Given the description of an element on the screen output the (x, y) to click on. 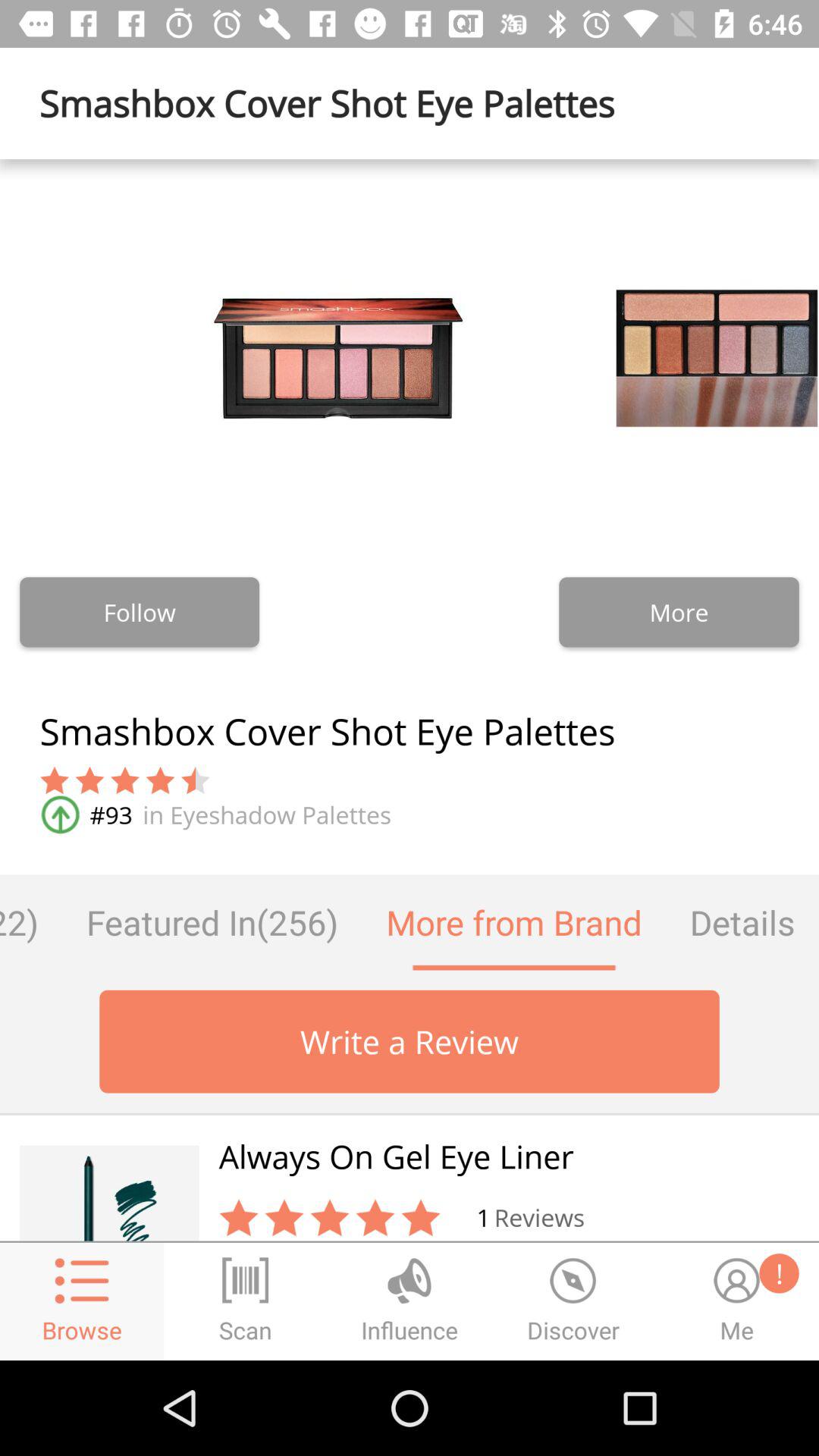
launch the follow icon (139, 612)
